Given the description of an element on the screen output the (x, y) to click on. 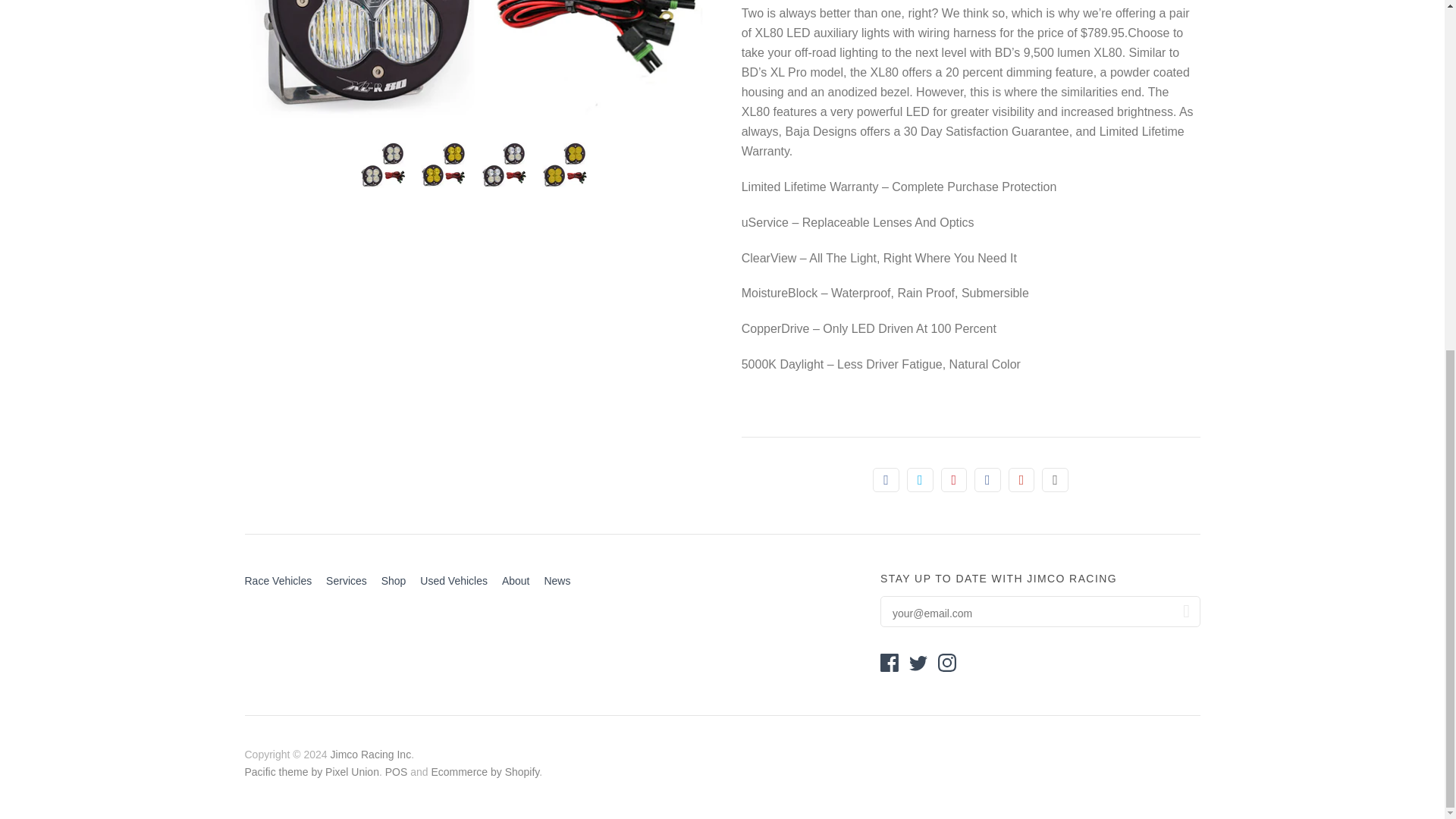
Twitter (917, 662)
Instagram (946, 662)
Facebook (889, 662)
